Given the description of an element on the screen output the (x, y) to click on. 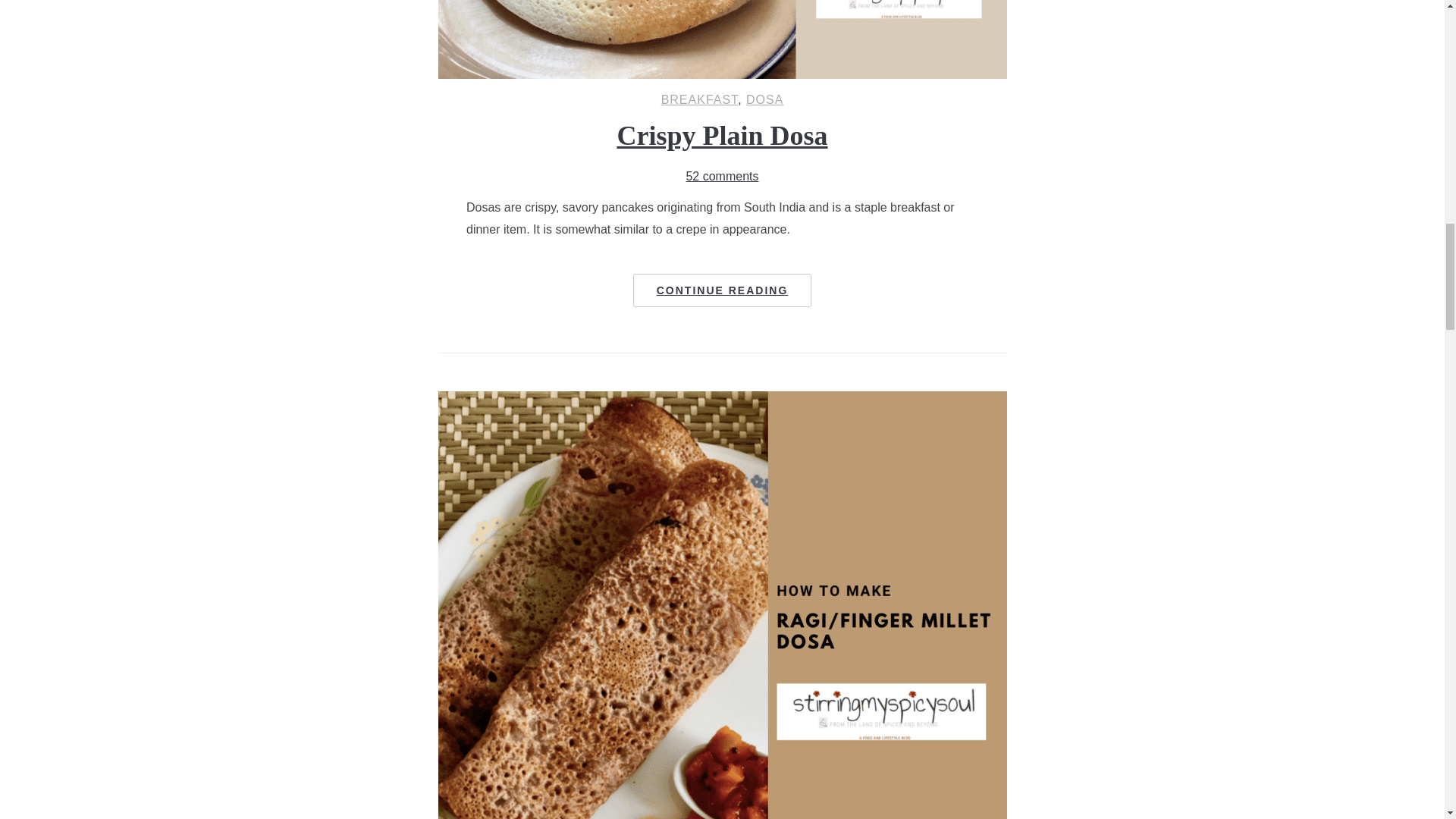
Permalink to Crispy Plain Dosa (722, 290)
